Given the description of an element on the screen output the (x, y) to click on. 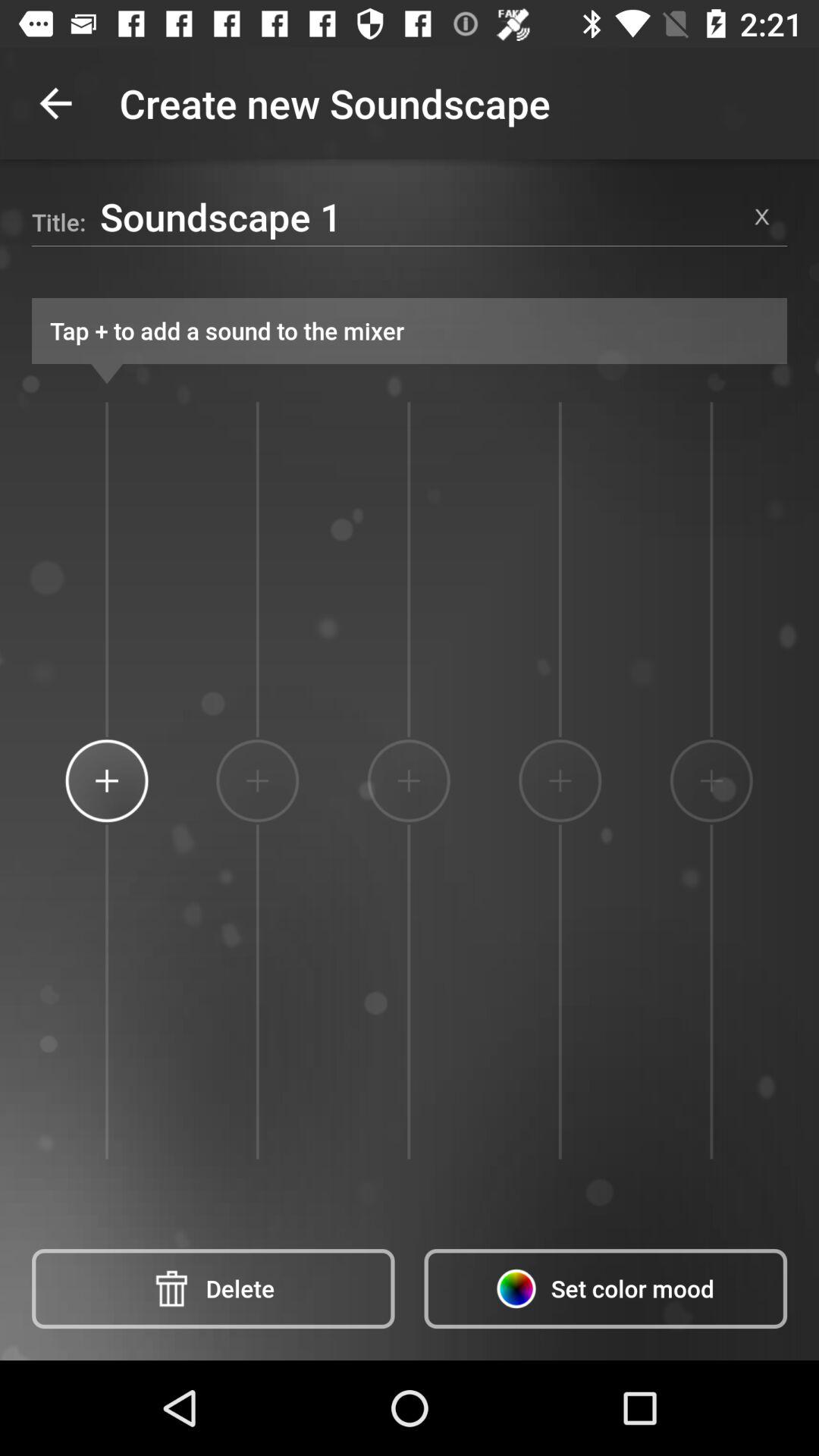
turn off item to the right of the soundscape 1 item (762, 216)
